Given the description of an element on the screen output the (x, y) to click on. 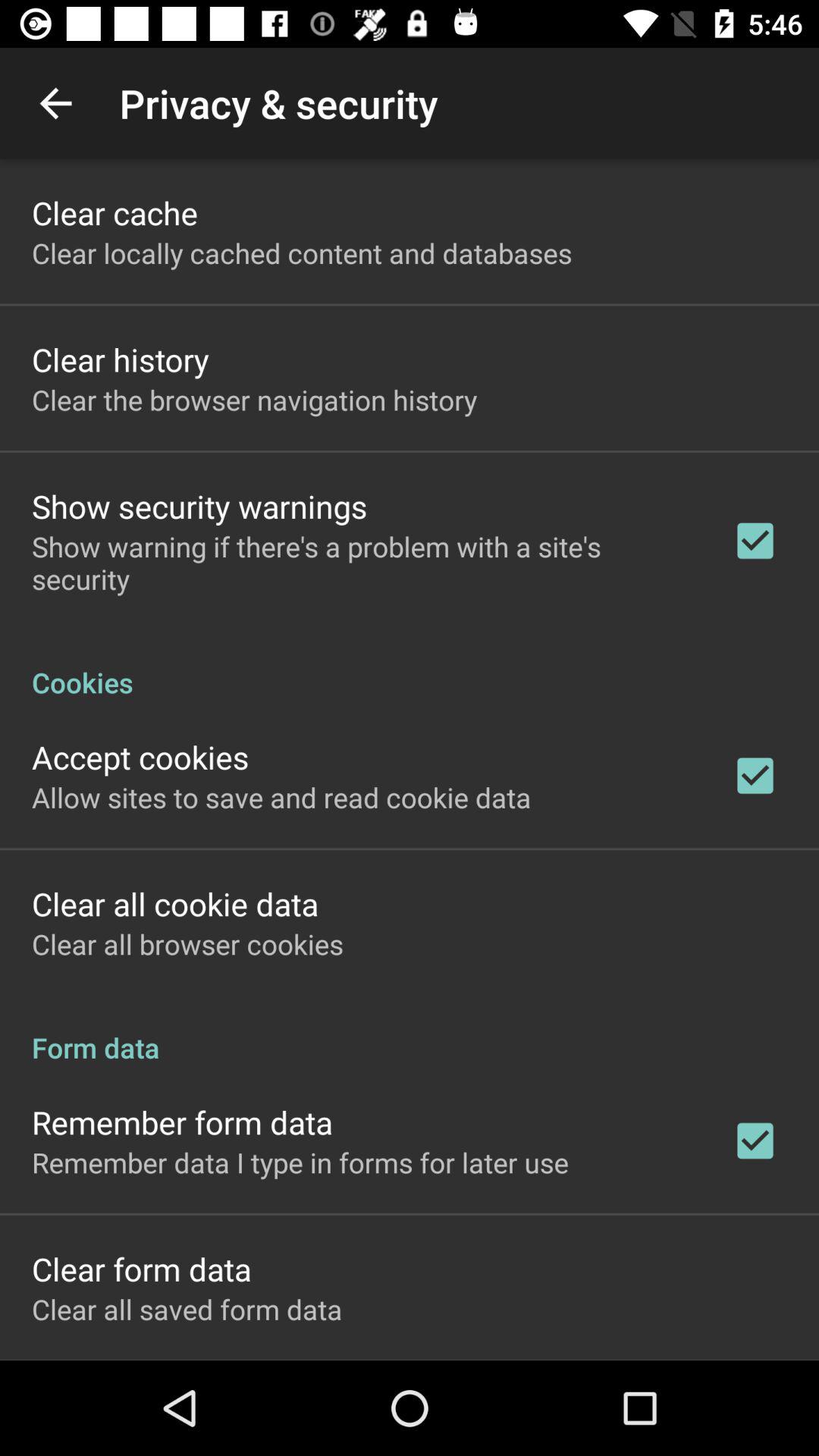
select app above clear cache icon (55, 103)
